Given the description of an element on the screen output the (x, y) to click on. 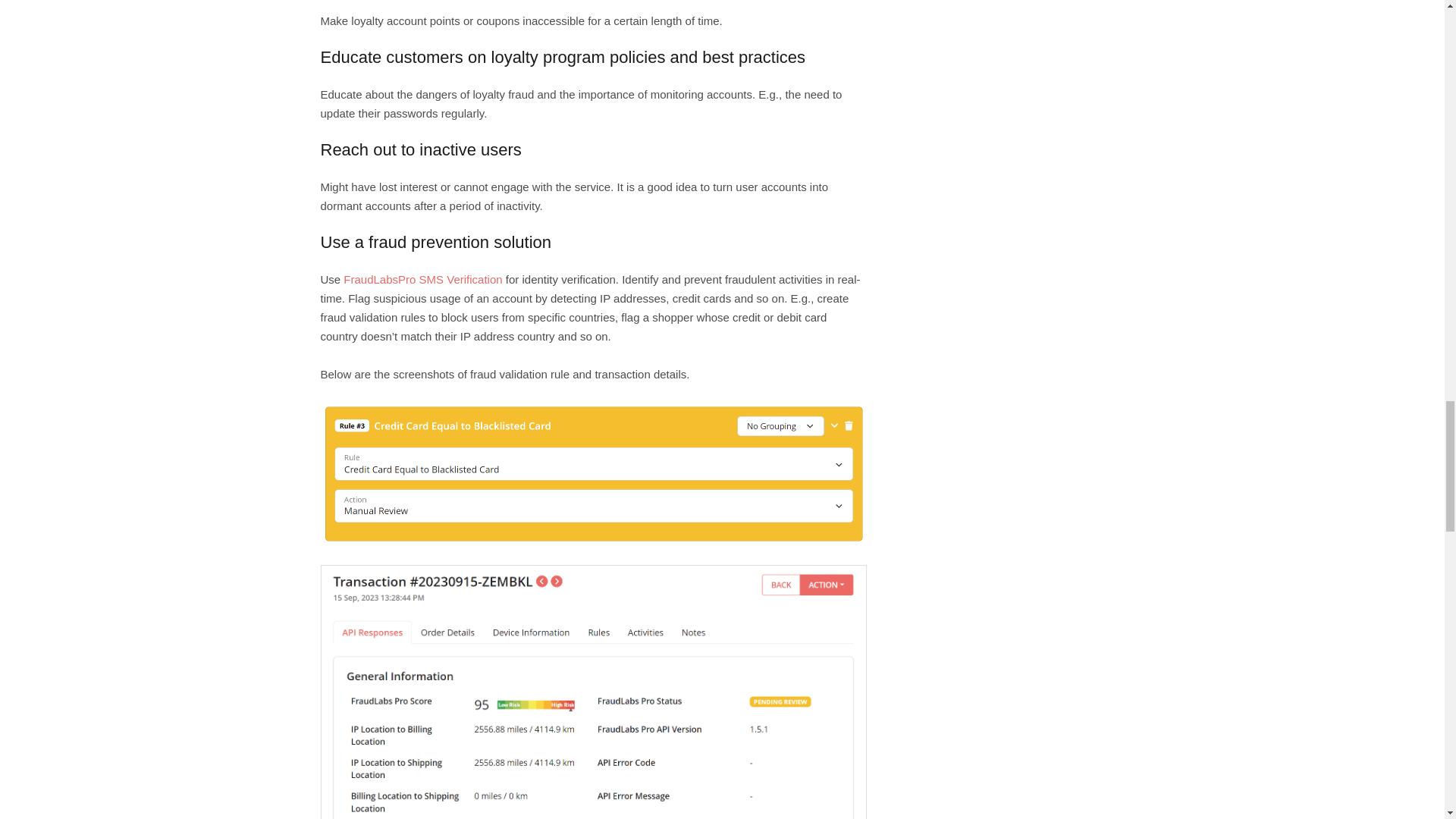
FraudLabsPro SMS Verification (422, 278)
